Given the description of an element on the screen output the (x, y) to click on. 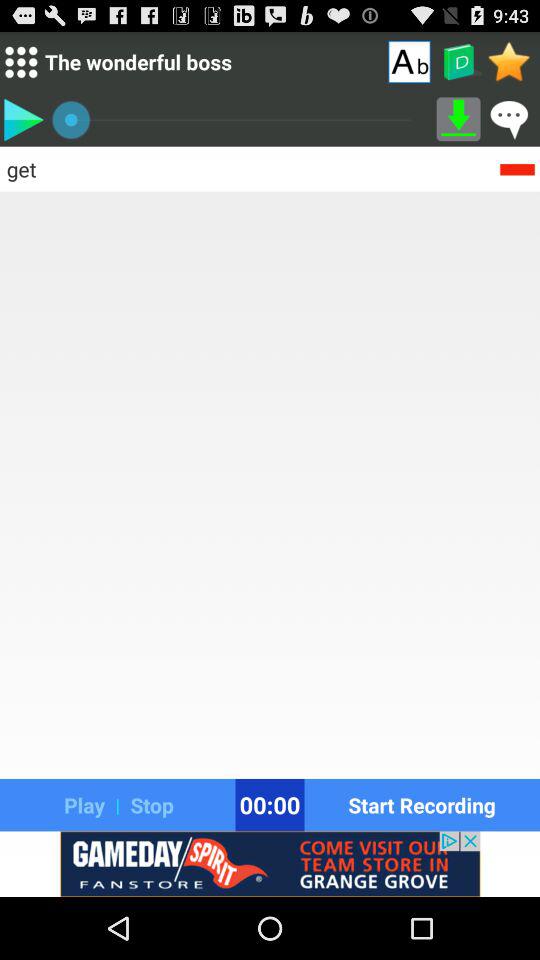
star button (509, 61)
